Given the description of an element on the screen output the (x, y) to click on. 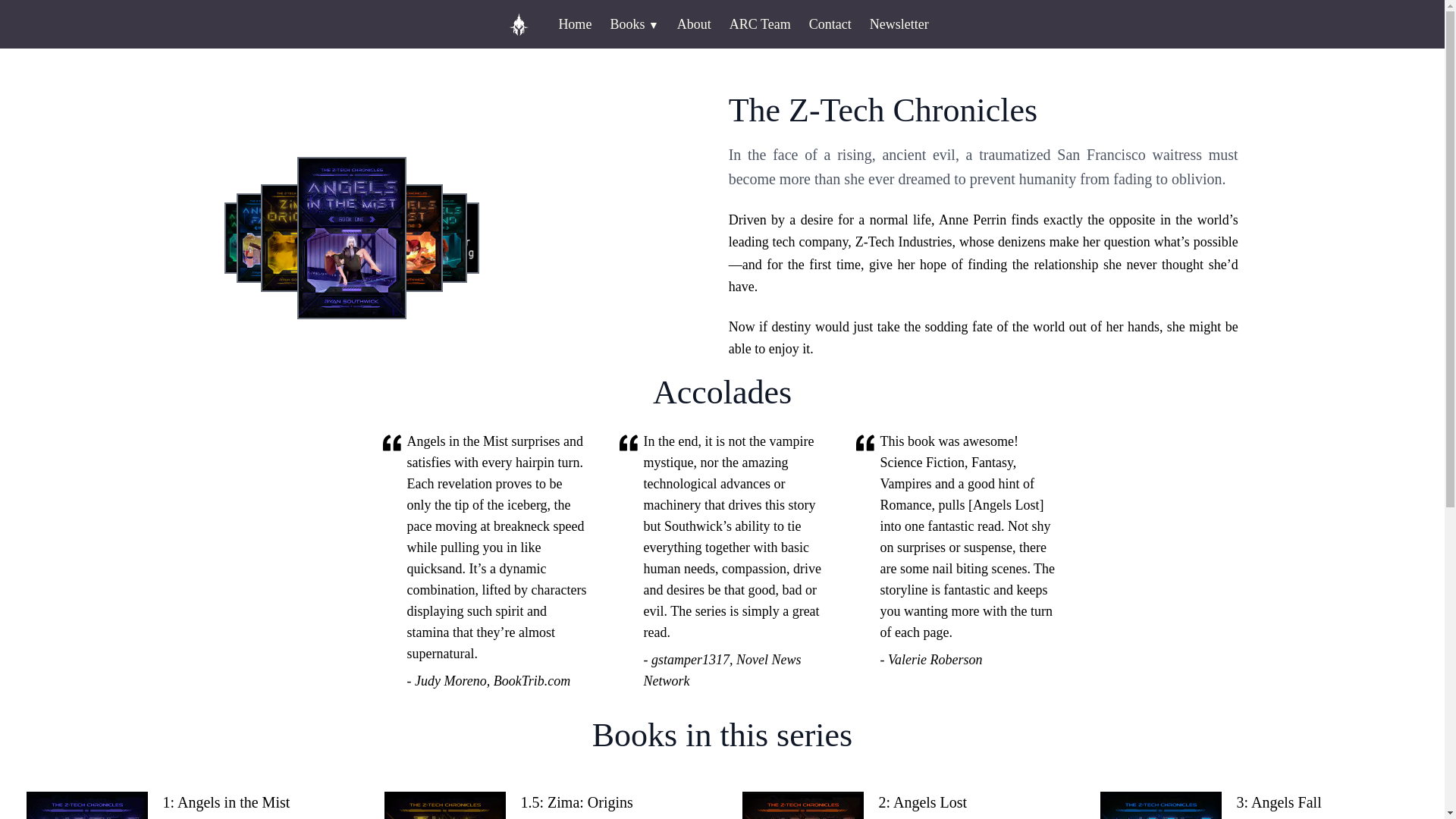
Newsletter (898, 23)
1: Angels in the Mist (252, 805)
About (694, 23)
3: Angels Fall (1327, 805)
Contact (829, 23)
Home (573, 23)
1.5: Zima: Origins (610, 805)
ARC Team (759, 23)
2: Angels Lost (968, 805)
